Given the description of an element on the screen output the (x, y) to click on. 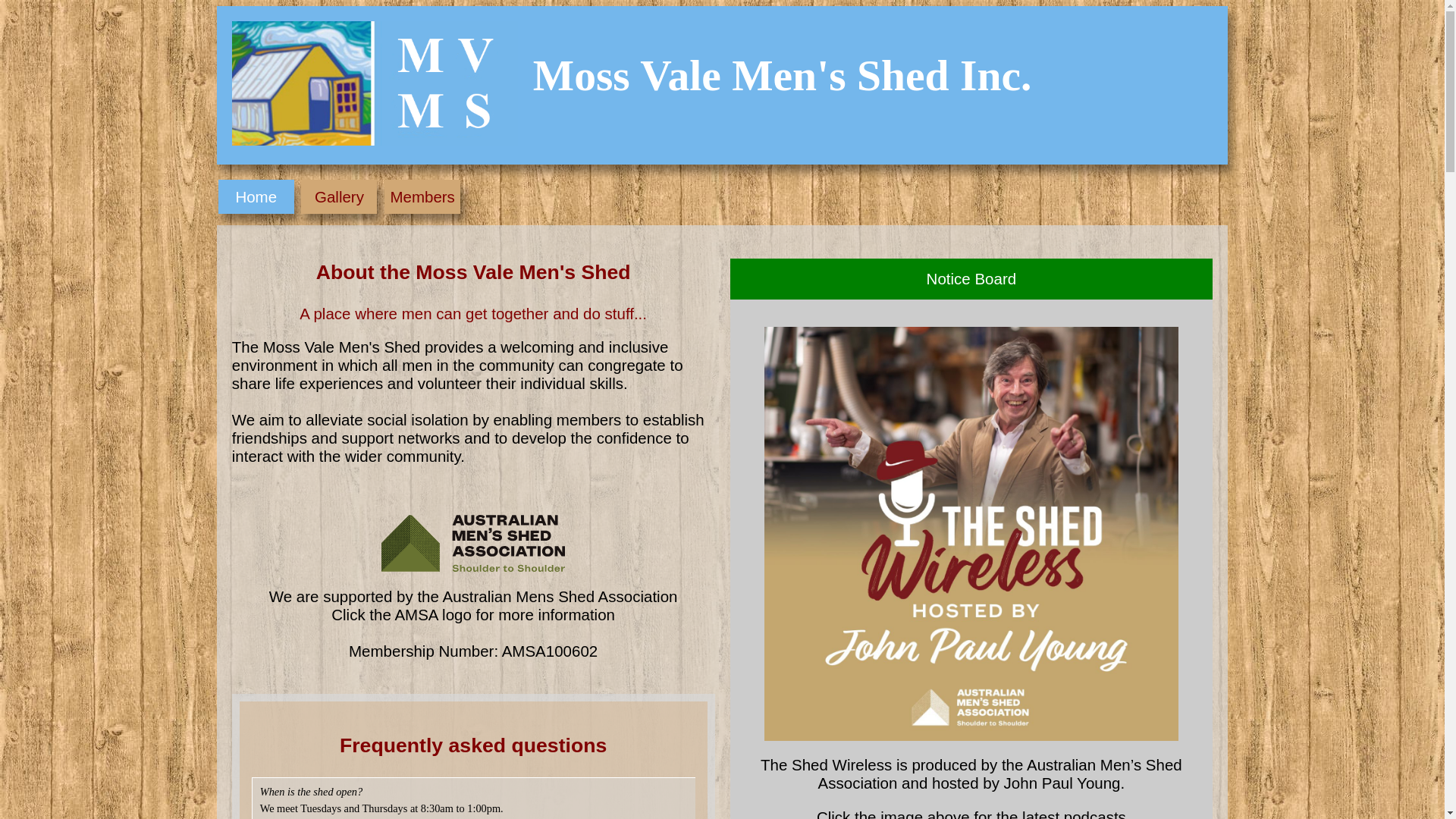
Gallery Element type: text (338, 196)
Members Element type: text (422, 196)
Home Element type: text (256, 196)
